Given the description of an element on the screen output the (x, y) to click on. 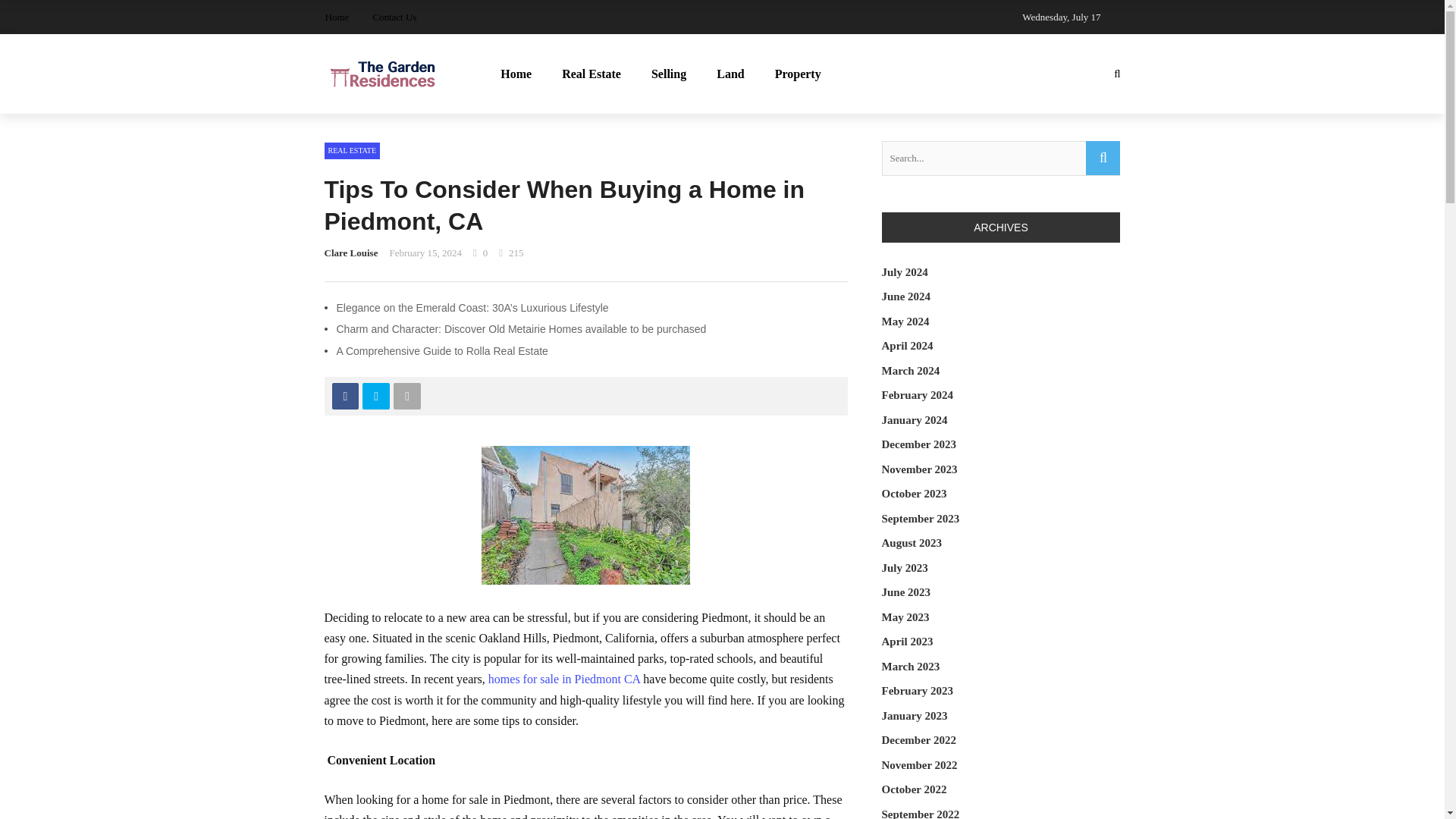
Clare Louise (351, 252)
Contact Us (394, 16)
Real Estate (591, 73)
Property (797, 73)
Facebook (344, 396)
Selling (668, 73)
REAL ESTATE (352, 150)
homes for sale in Piedmont CA (562, 678)
Home (515, 73)
Twitter (376, 396)
Land (729, 73)
A Comprehensive Guide to Rolla Real Estate  (443, 350)
Home (336, 16)
